Given the description of an element on the screen output the (x, y) to click on. 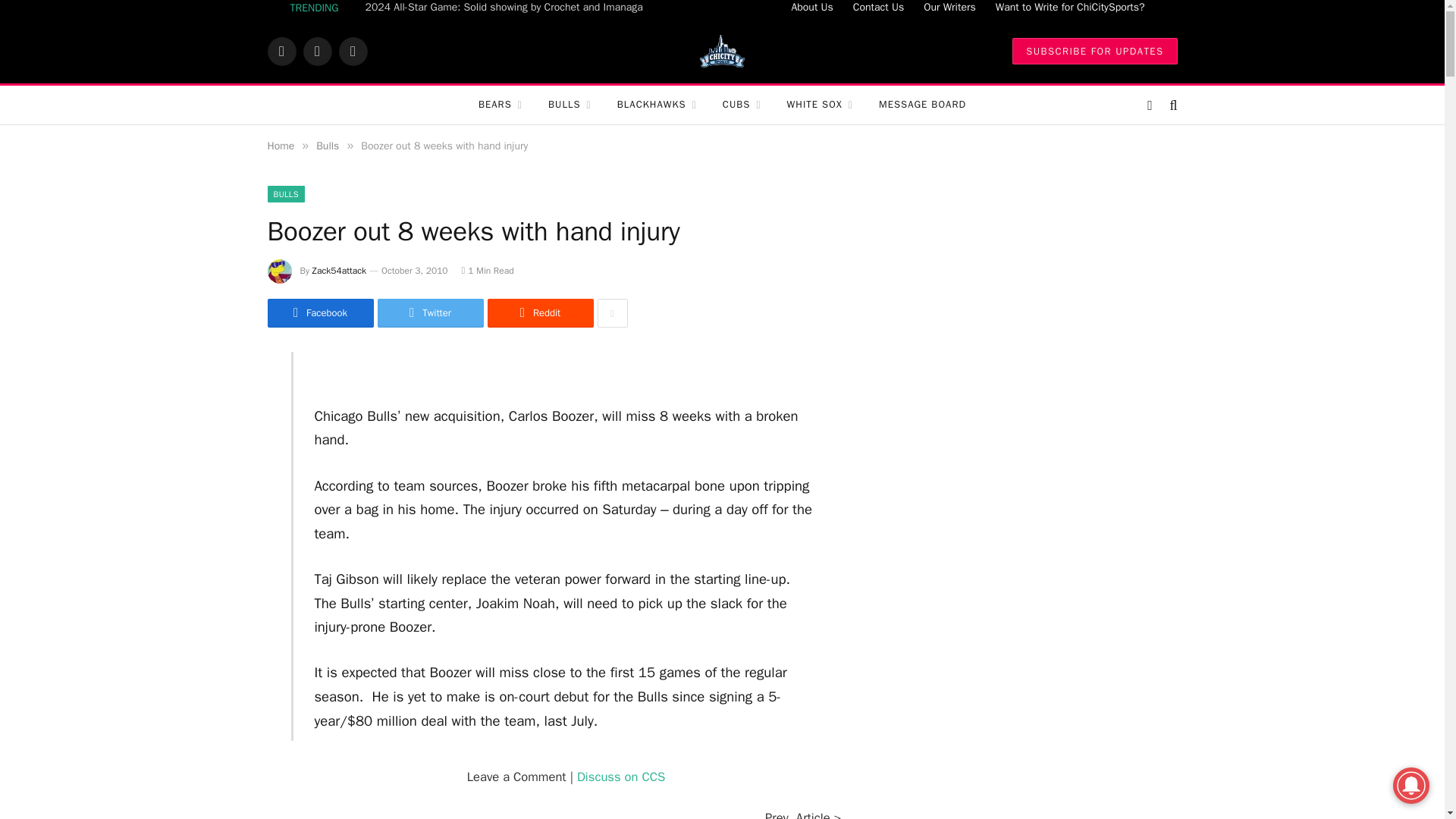
Share on Reddit (539, 312)
CCS - Forums - Chicago Bulls (620, 776)
Share on Facebook (319, 312)
Switch to Dark Design - easier on eyes. (1149, 105)
2024 All-Star Game: Solid showing by Crochet and Imanaga (507, 7)
Share on Twitter (430, 312)
Posts by Zack54attack (339, 270)
Show More Social Sharing (611, 312)
